Given the description of an element on the screen output the (x, y) to click on. 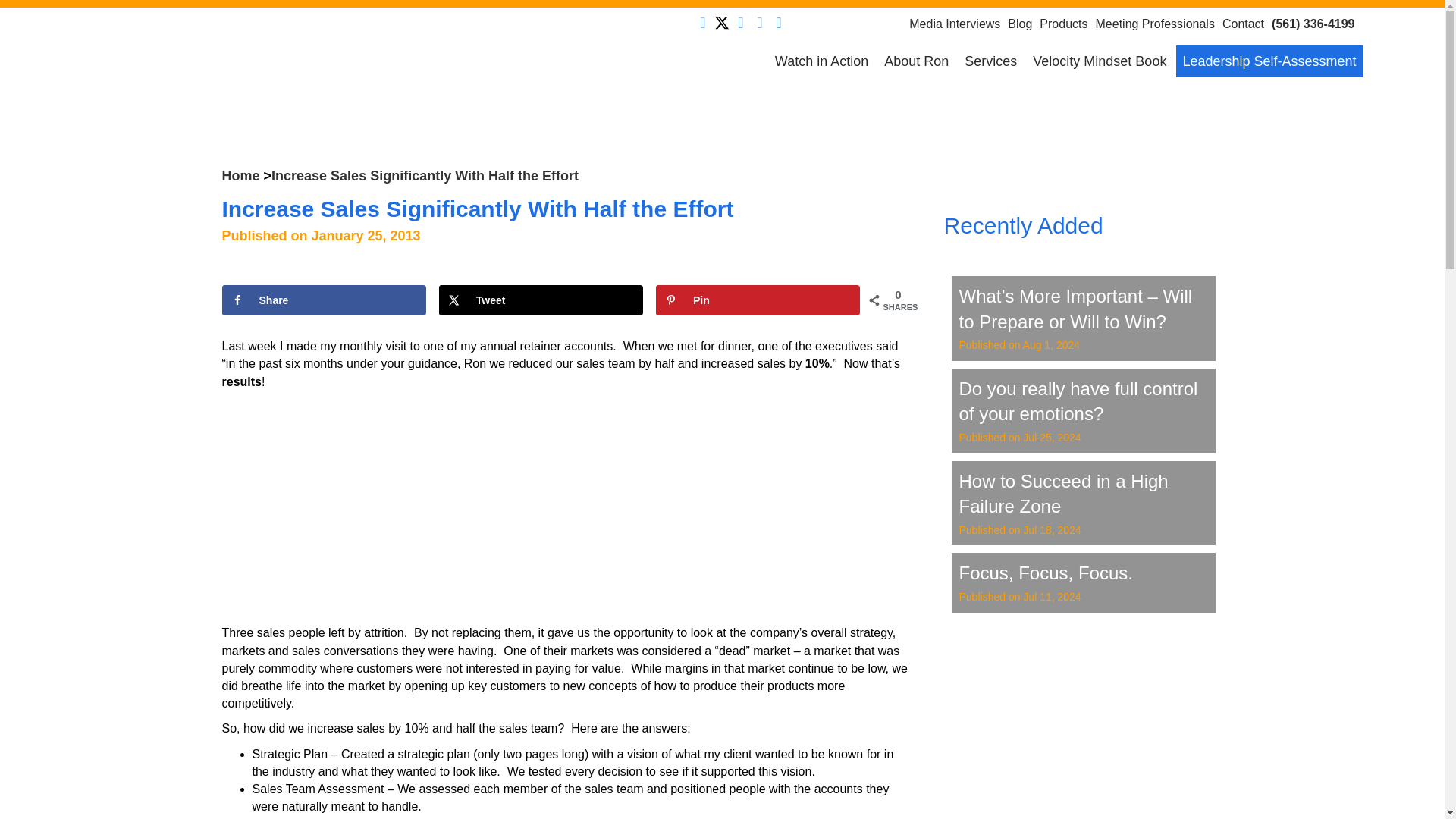
Save to Pinterest (758, 300)
Leadership Self-Assessment (1268, 60)
Share on Facebook (323, 300)
About Ron (916, 60)
Meeting Professionals (1157, 23)
Media Interviews (957, 23)
Instagram (778, 22)
LinkedIn (740, 22)
Watch in Action (821, 60)
Velocity Mindset Book (1099, 60)
Share on X (541, 300)
Contact (1247, 23)
Facebook (702, 22)
Increase Sales Significantly With Half the Effort (424, 175)
